Given the description of an element on the screen output the (x, y) to click on. 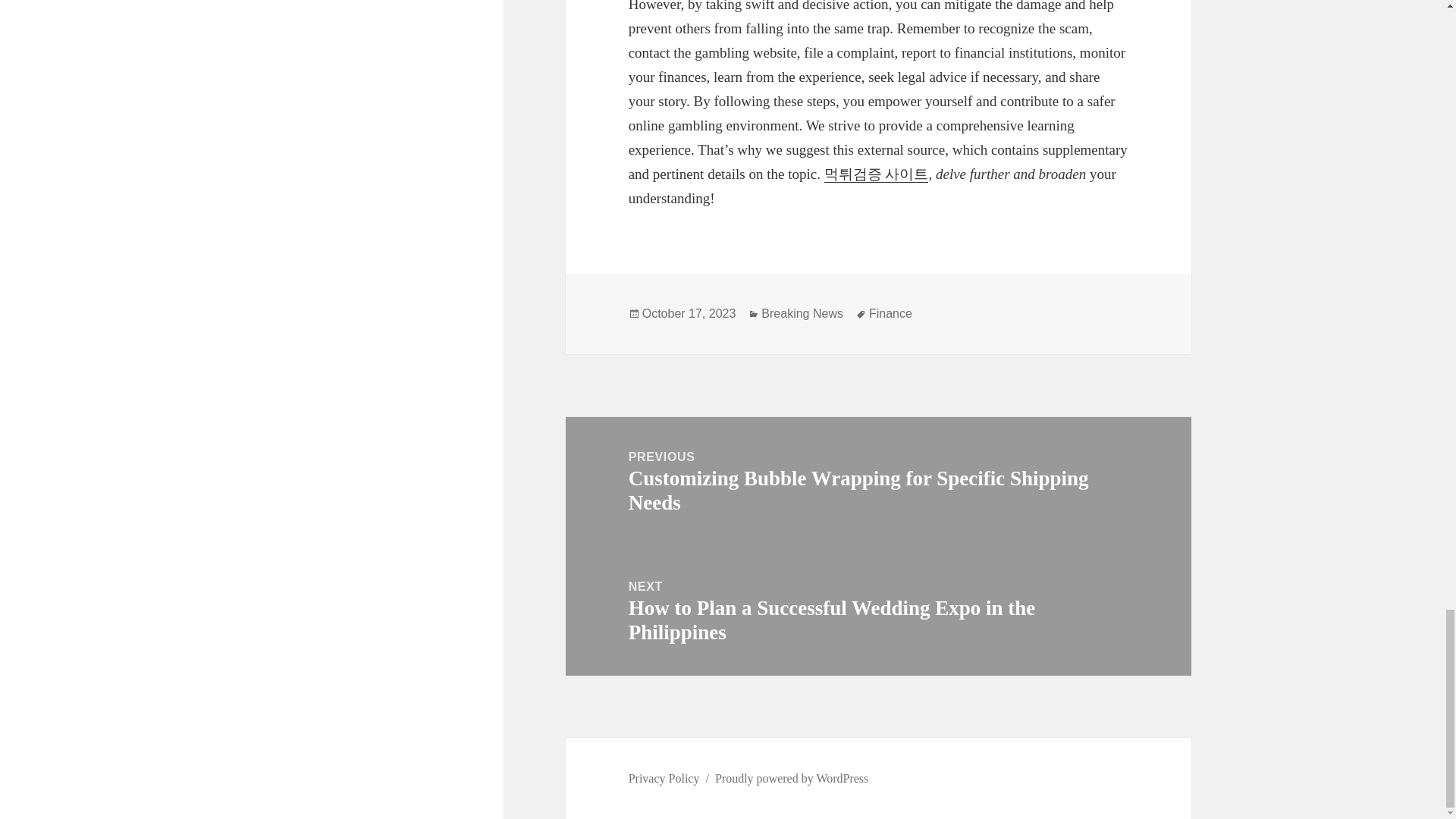
Breaking News (802, 314)
October 17, 2023 (689, 314)
Proudly powered by WordPress (790, 778)
Finance (890, 314)
Privacy Policy (664, 778)
